Given the description of an element on the screen output the (x, y) to click on. 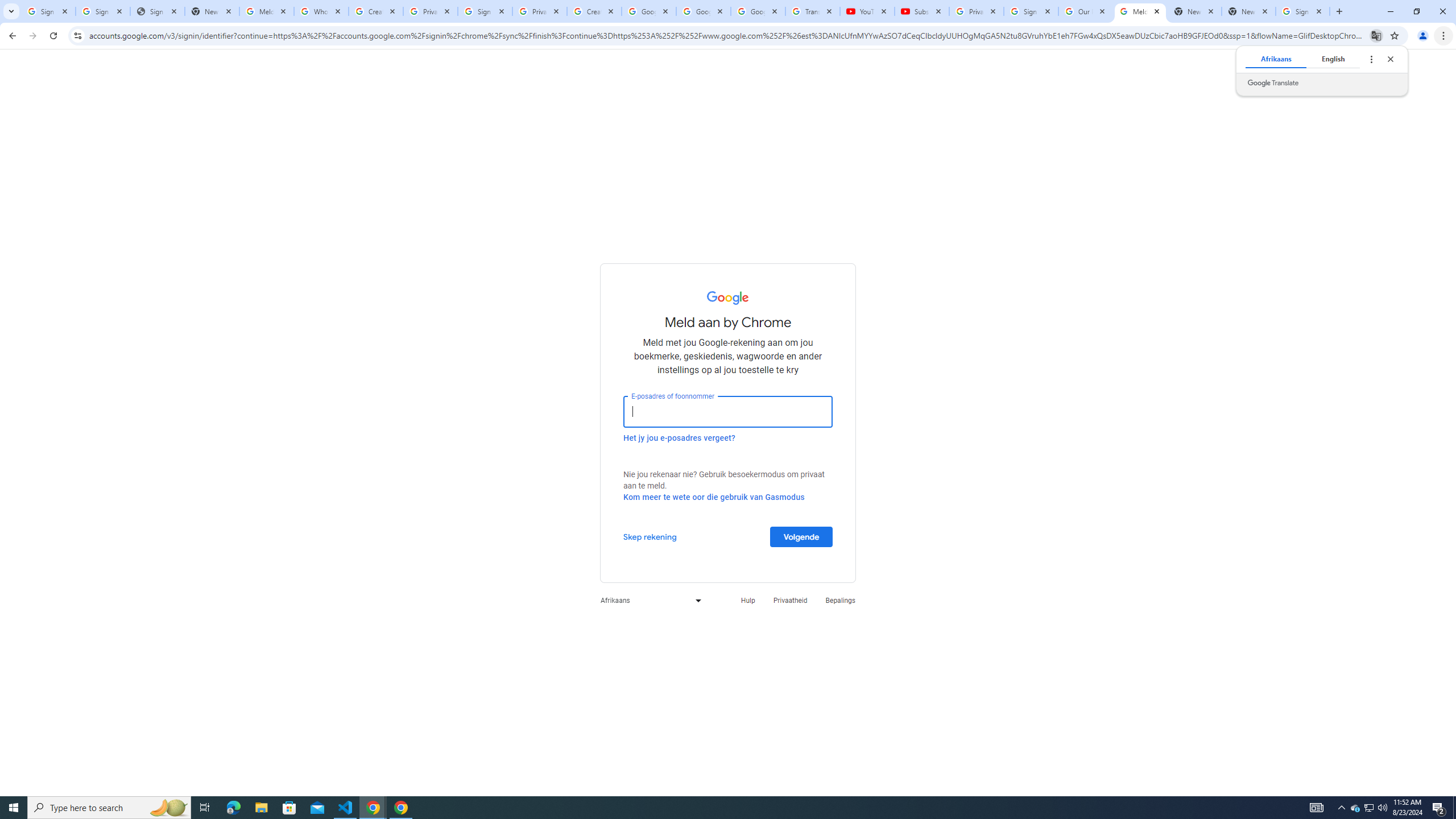
Translate this page (1376, 35)
Privaatheid (790, 600)
Hulp (747, 600)
Sign in - Google Accounts (48, 11)
Translate options (1370, 58)
